Given the description of an element on the screen output the (x, y) to click on. 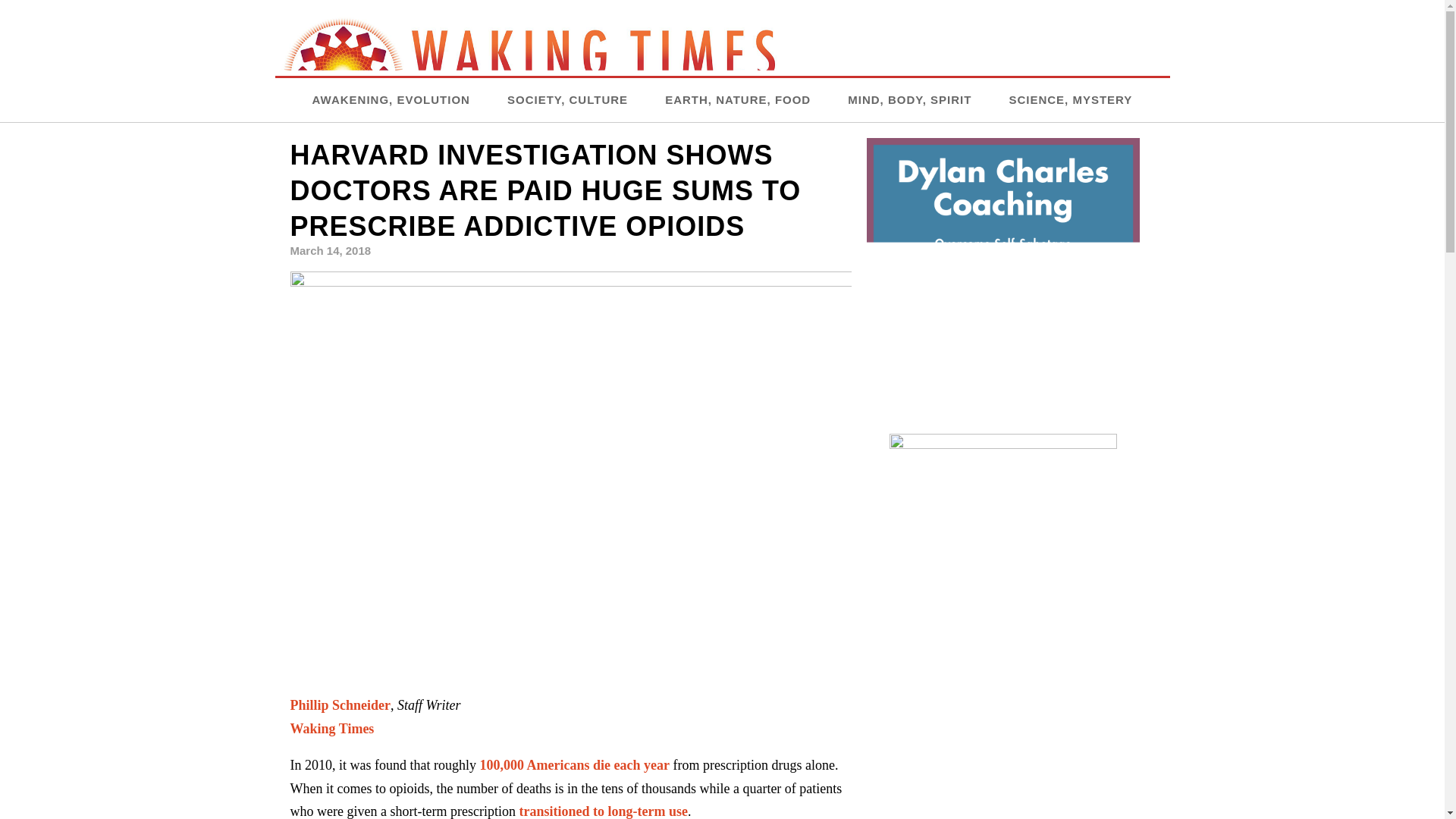
transitioned to long-term use (602, 811)
MIND, BODY, SPIRIT (909, 99)
AWAKENING, EVOLUTION (391, 99)
EARTH, NATURE, FOOD (737, 99)
Waking Times (331, 728)
Phillip Schneider (339, 704)
SOCIETY, CULTURE (566, 99)
100,000 Americans die each year (573, 765)
SCIENCE, MYSTERY (1070, 99)
